Given the description of an element on the screen output the (x, y) to click on. 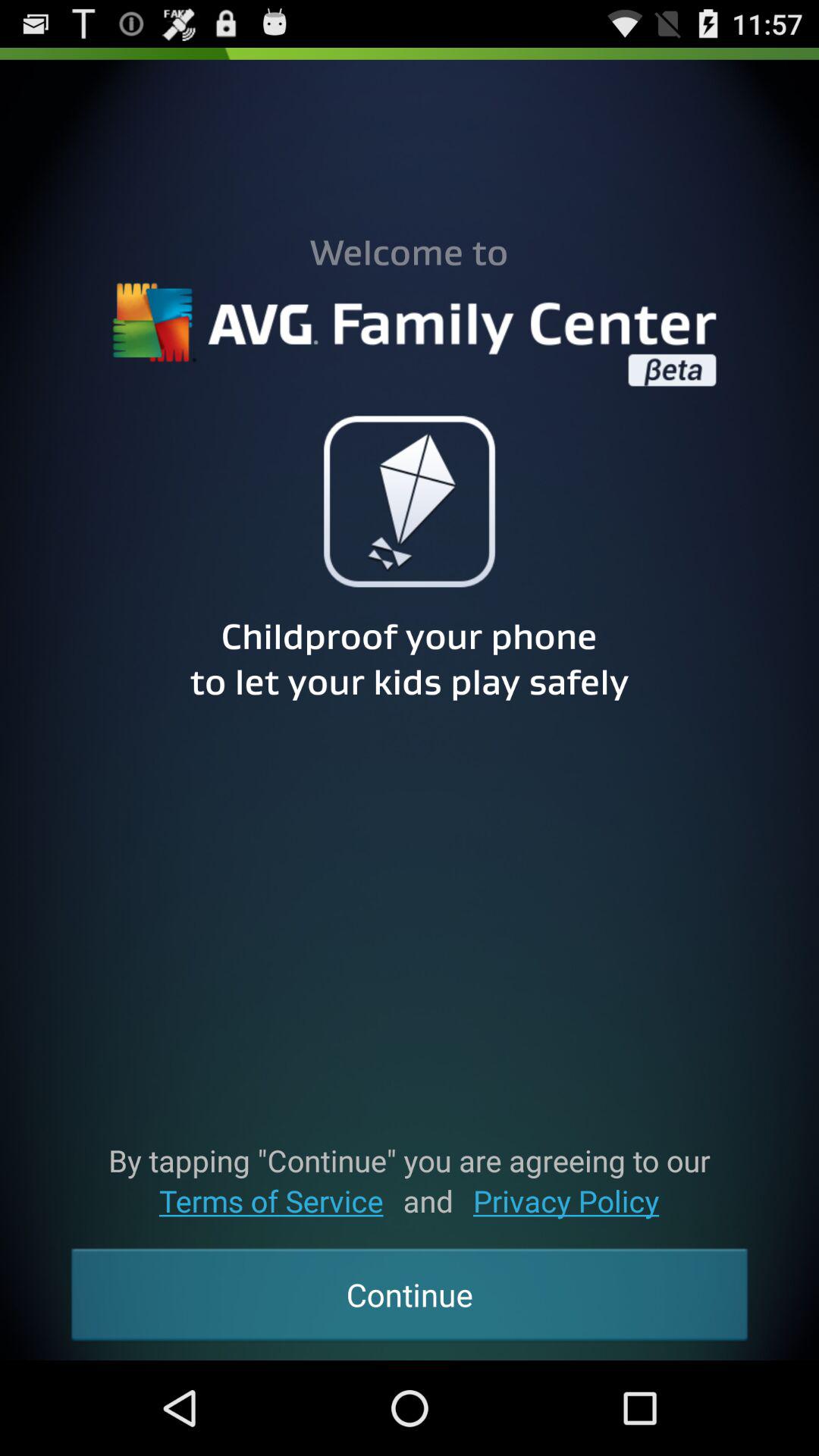
press the icon below by tapping continue (271, 1200)
